Given the description of an element on the screen output the (x, y) to click on. 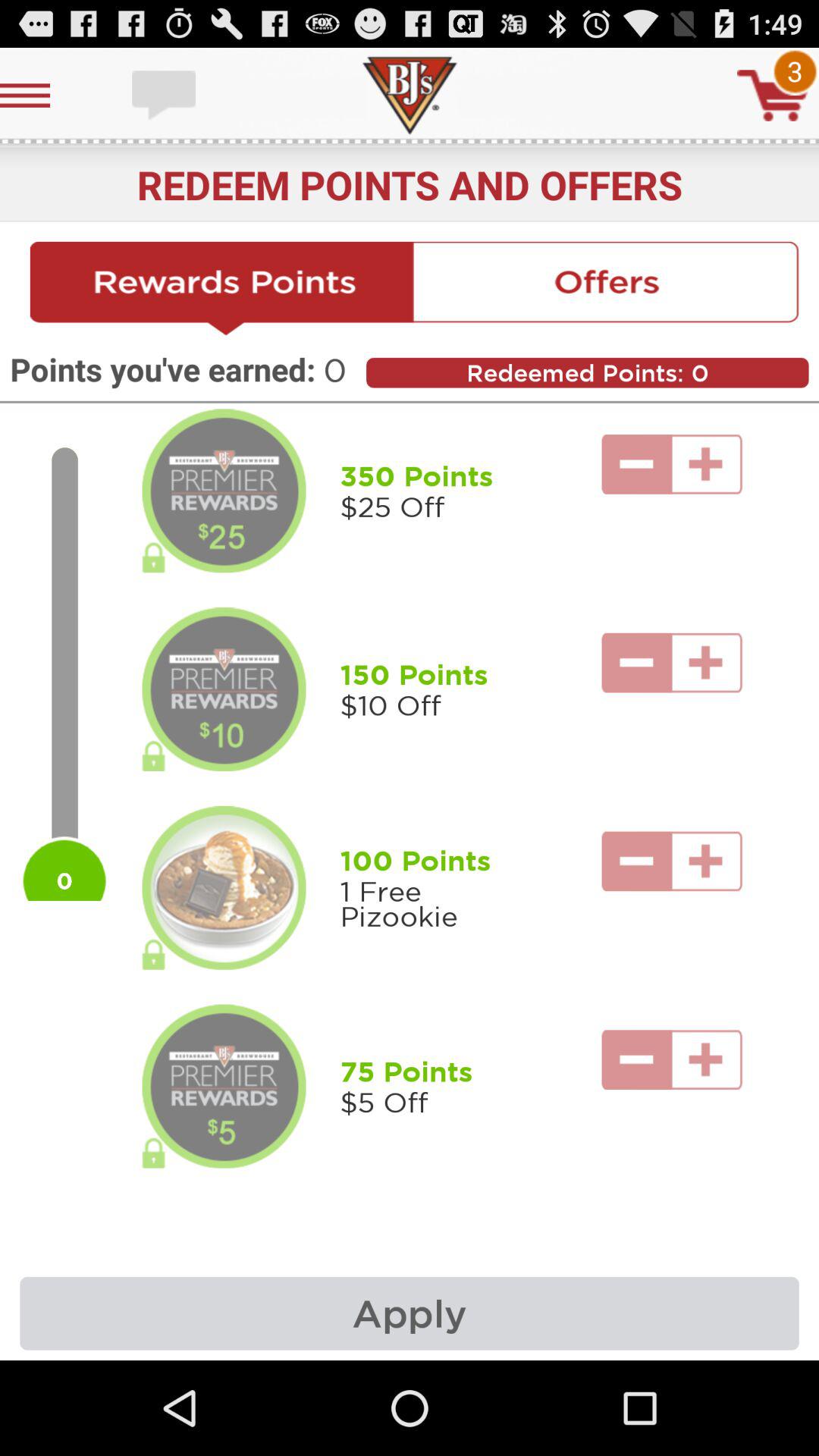
new page (222, 289)
